Given the description of an element on the screen output the (x, y) to click on. 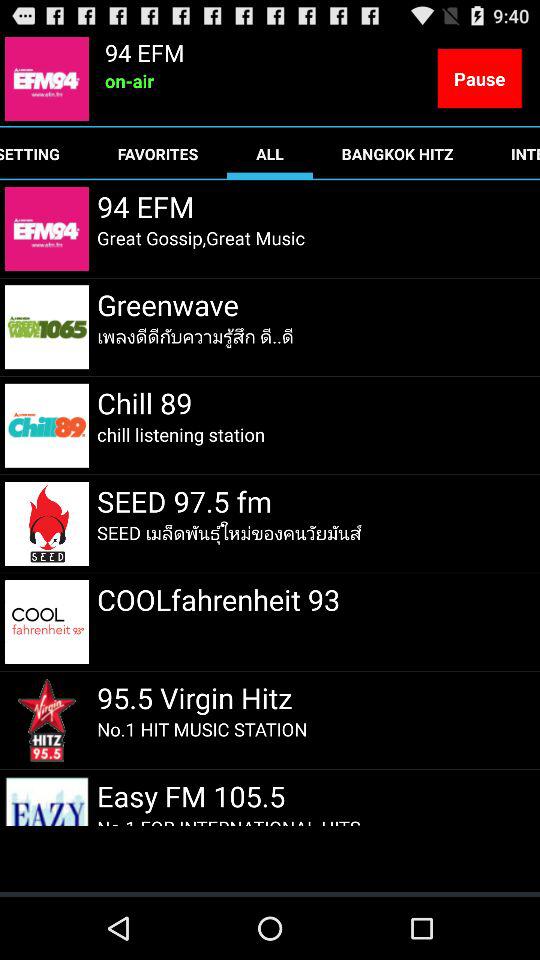
tap the app above chill listening station (144, 402)
